Given the description of an element on the screen output the (x, y) to click on. 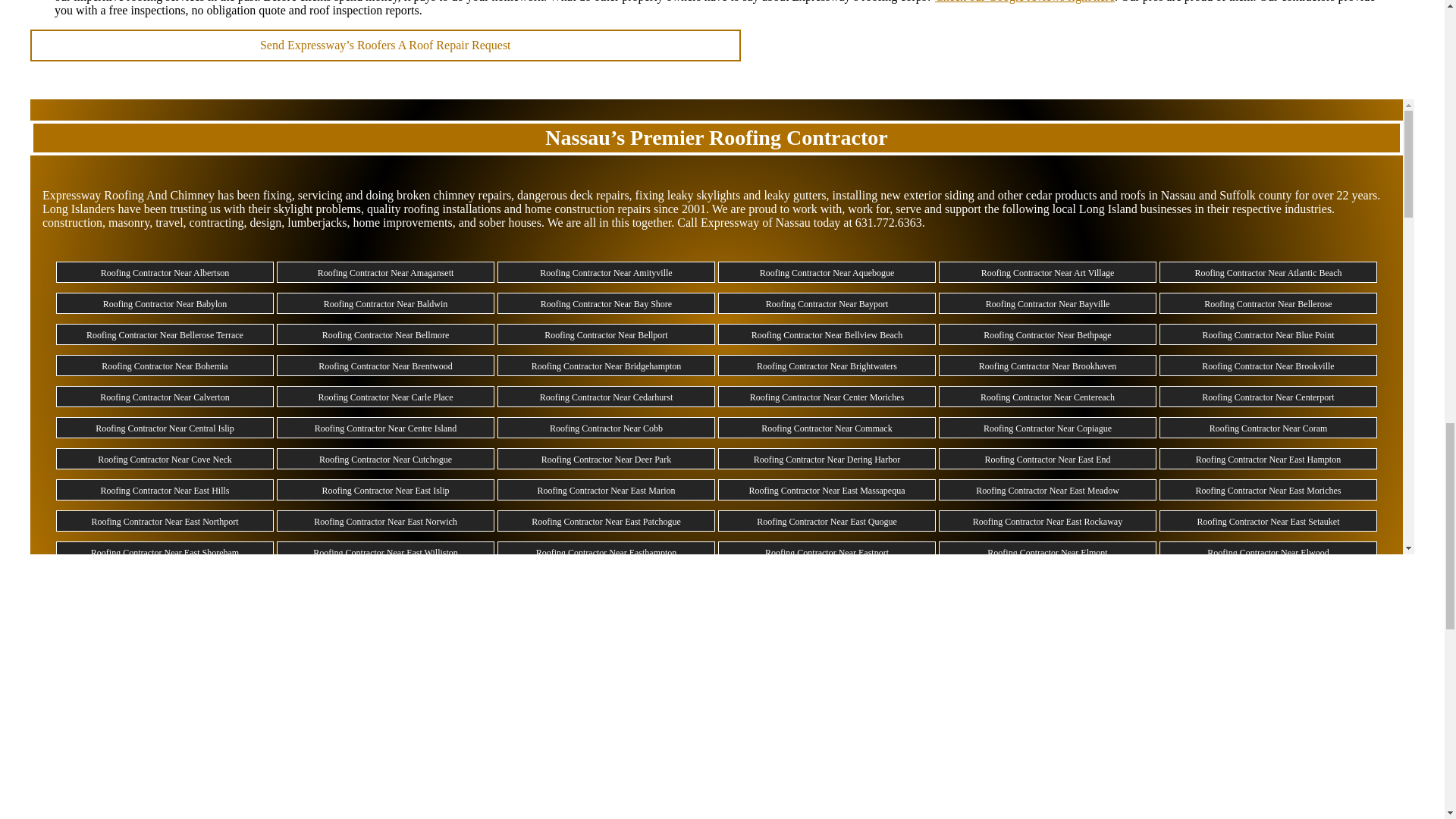
Roofing Contractor Near Atlantic Beach (1268, 272)
quality roofing installations (433, 208)
Check our Google reviews right here (1024, 1)
broken chimney repairs (453, 195)
Suffolk county (1255, 195)
fixing leaky skylights (687, 195)
Roofing Contractor Near Art Village (1048, 272)
Roofing Contractor Near Amagansett (385, 272)
exterior siding (939, 195)
roofs in Nassau (1158, 195)
lumberjacks (316, 222)
dangerous deck repairs (572, 195)
design (266, 222)
skylight problems (317, 208)
leaky gutters (793, 195)
